Given the description of an element on the screen output the (x, y) to click on. 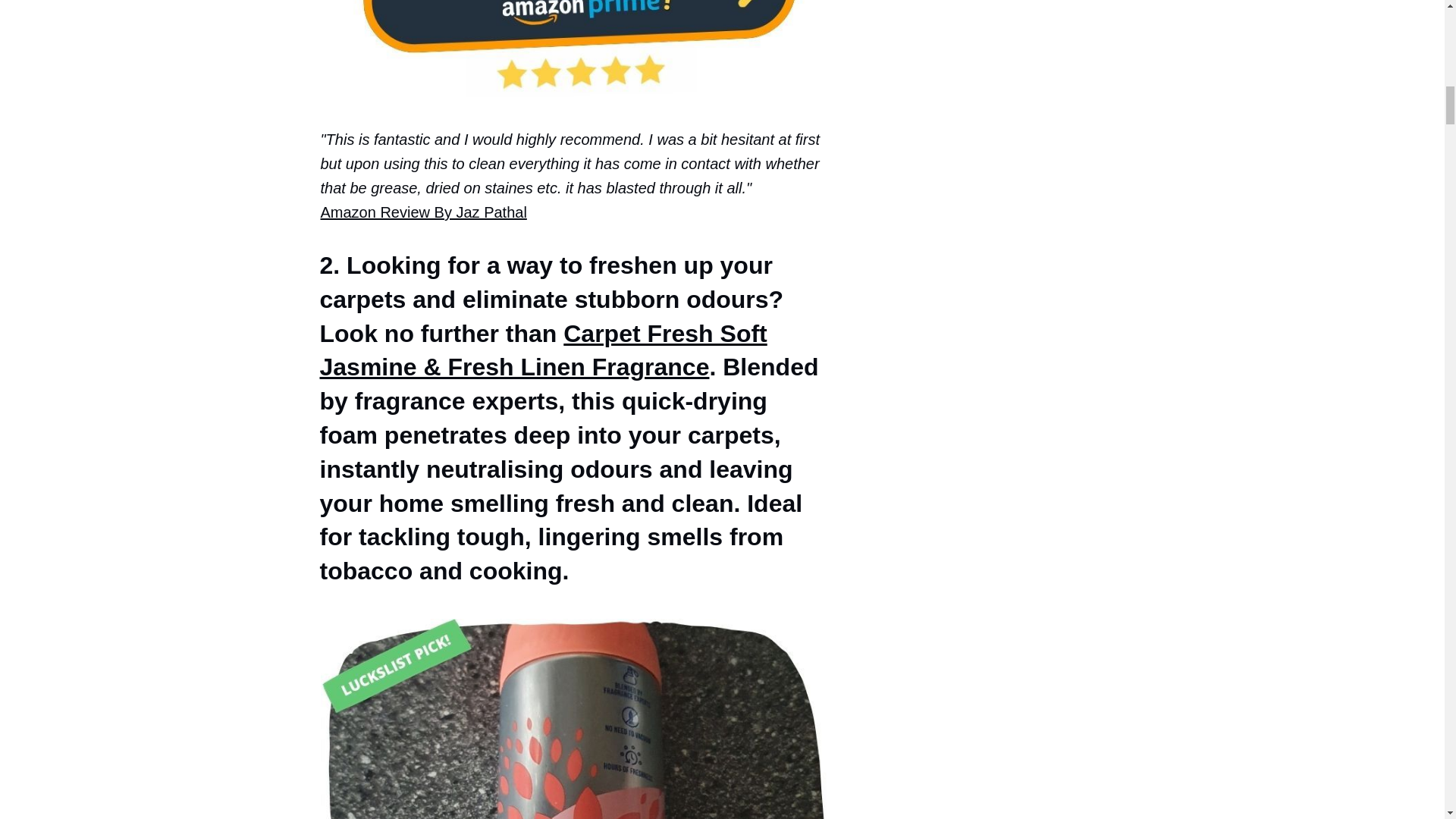
Amazon Review By Jaz Pathal (422, 211)
